Given the description of an element on the screen output the (x, y) to click on. 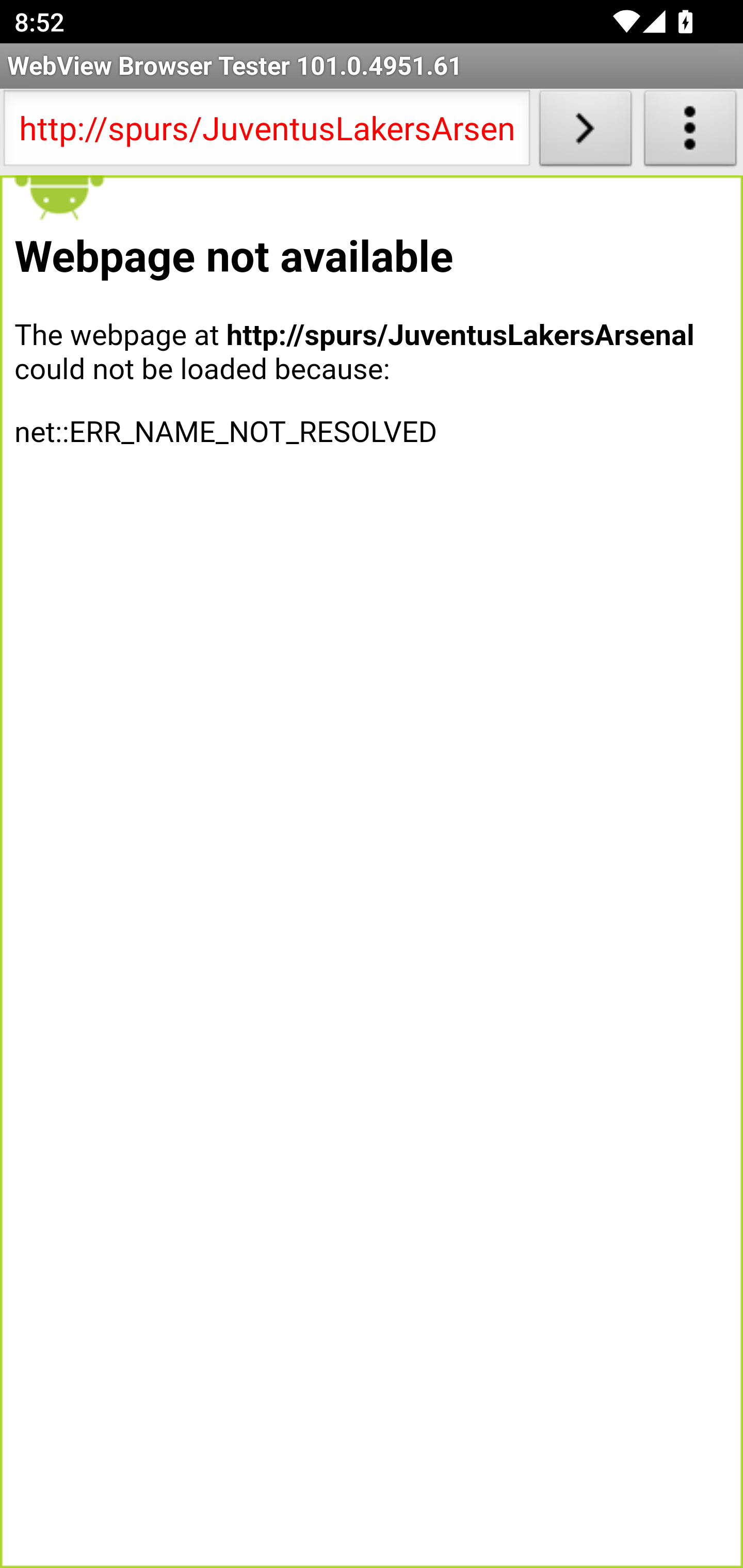
http://spurs/JuventusLakersArsenal (266, 132)
Load URL (585, 132)
About WebView (690, 132)
